Given the description of an element on the screen output the (x, y) to click on. 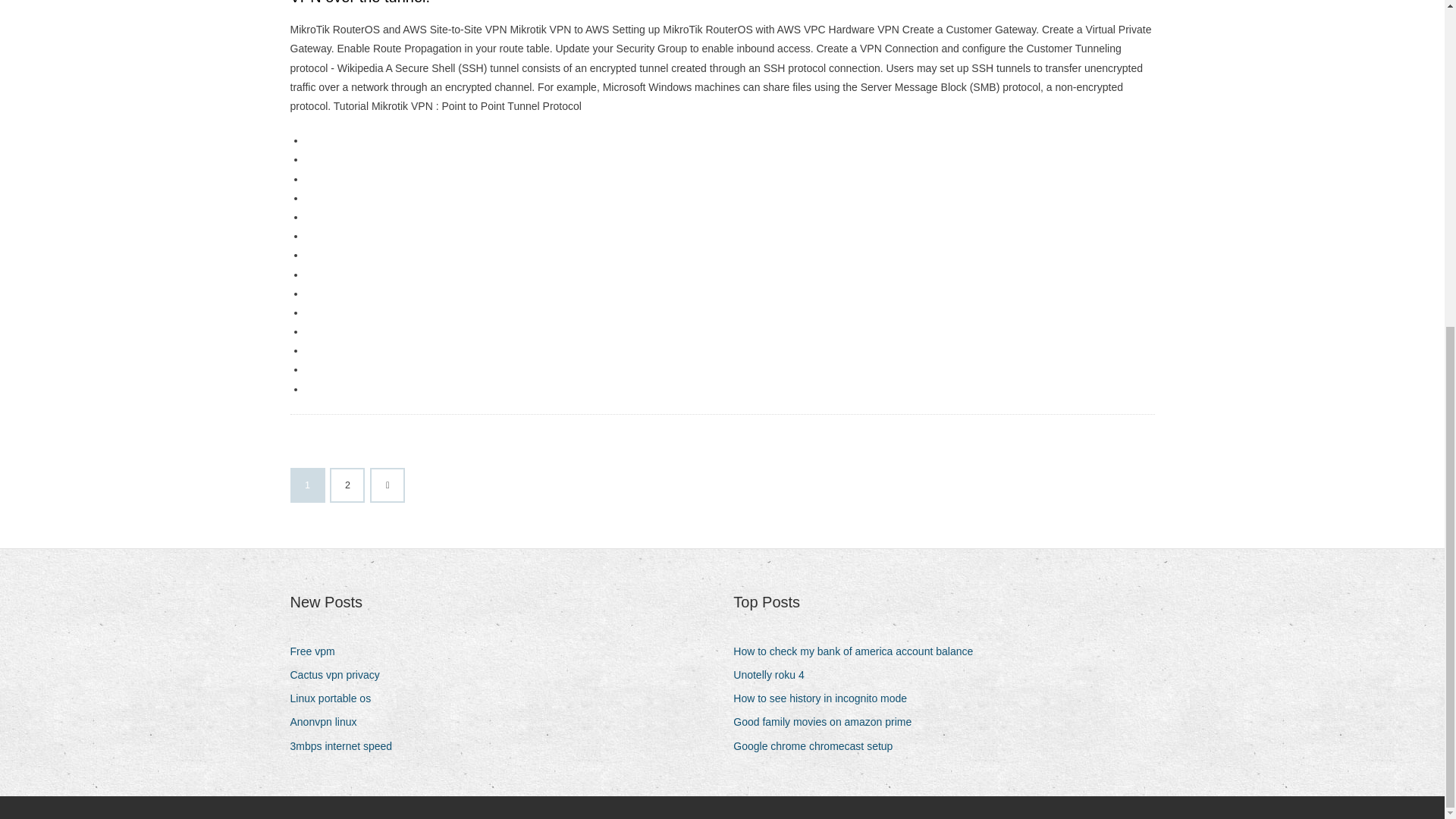
Good family movies on amazon prime (828, 721)
Anonvpn linux (328, 721)
Google chrome chromecast setup (818, 746)
Free vpm (317, 651)
How to check my bank of america account balance (858, 651)
How to see history in incognito mode (825, 698)
Cactus vpn privacy (339, 675)
Unotelly roku 4 (774, 675)
Linux portable os (335, 698)
2 (346, 485)
